Given the description of an element on the screen output the (x, y) to click on. 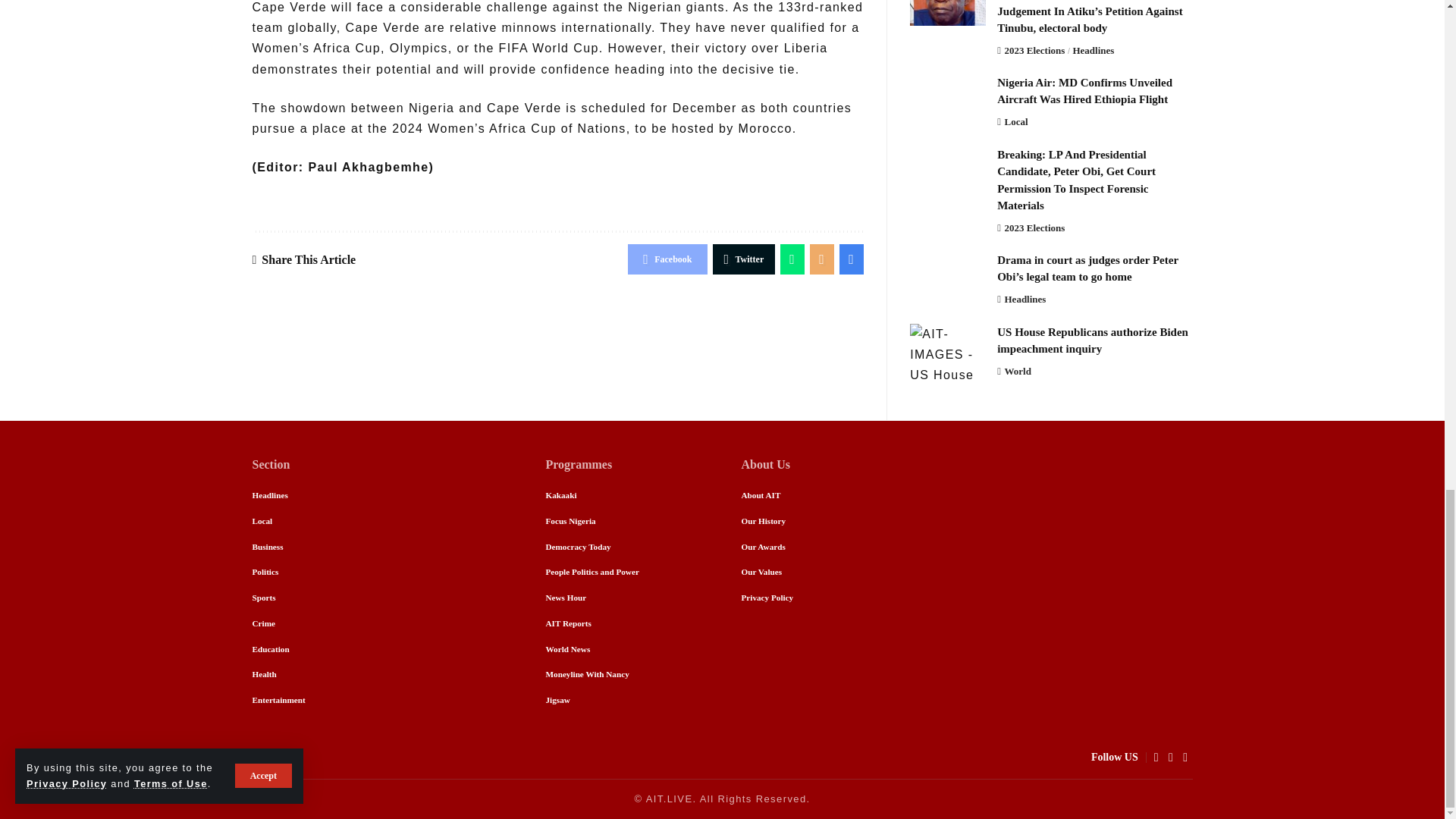
Facebook (666, 259)
Twitter (744, 259)
US House Republicans authorize Biden impeachment inquiry (947, 351)
